Given the description of an element on the screen output the (x, y) to click on. 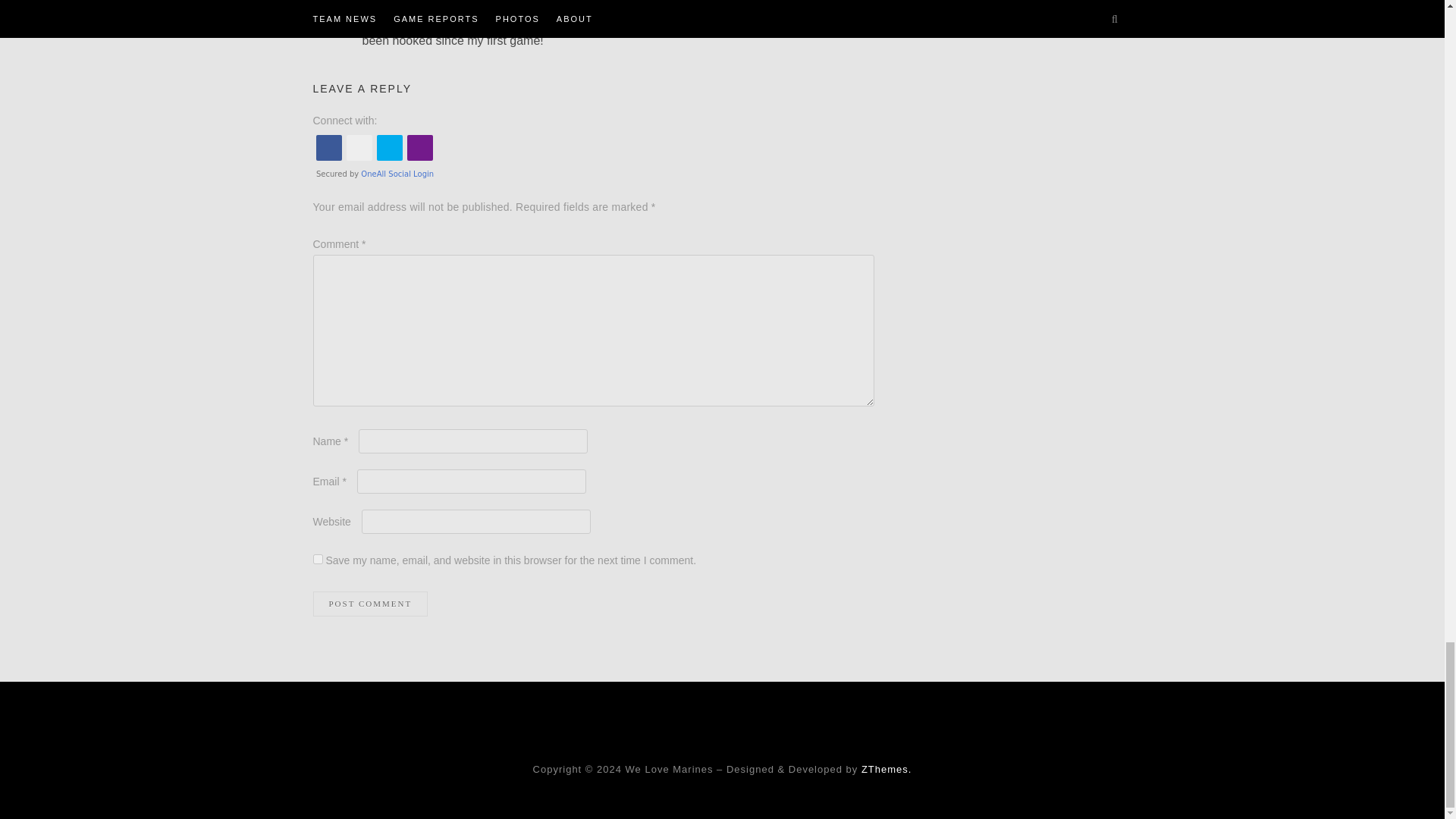
Login with Social Networks (593, 155)
yes (317, 559)
Post Comment (370, 603)
